Given the description of an element on the screen output the (x, y) to click on. 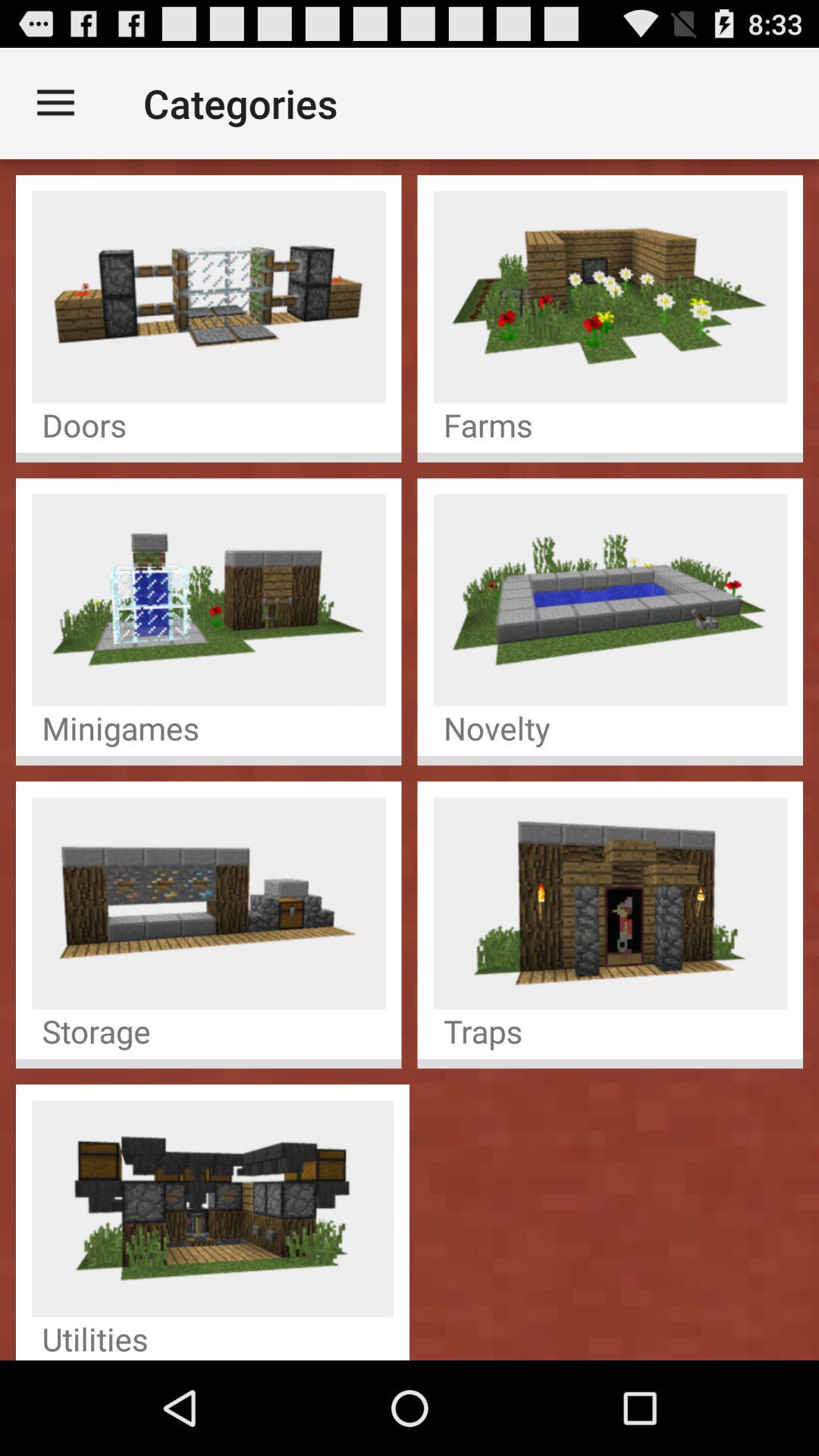
select the icon to the left of the categories icon (55, 103)
